Given the description of an element on the screen output the (x, y) to click on. 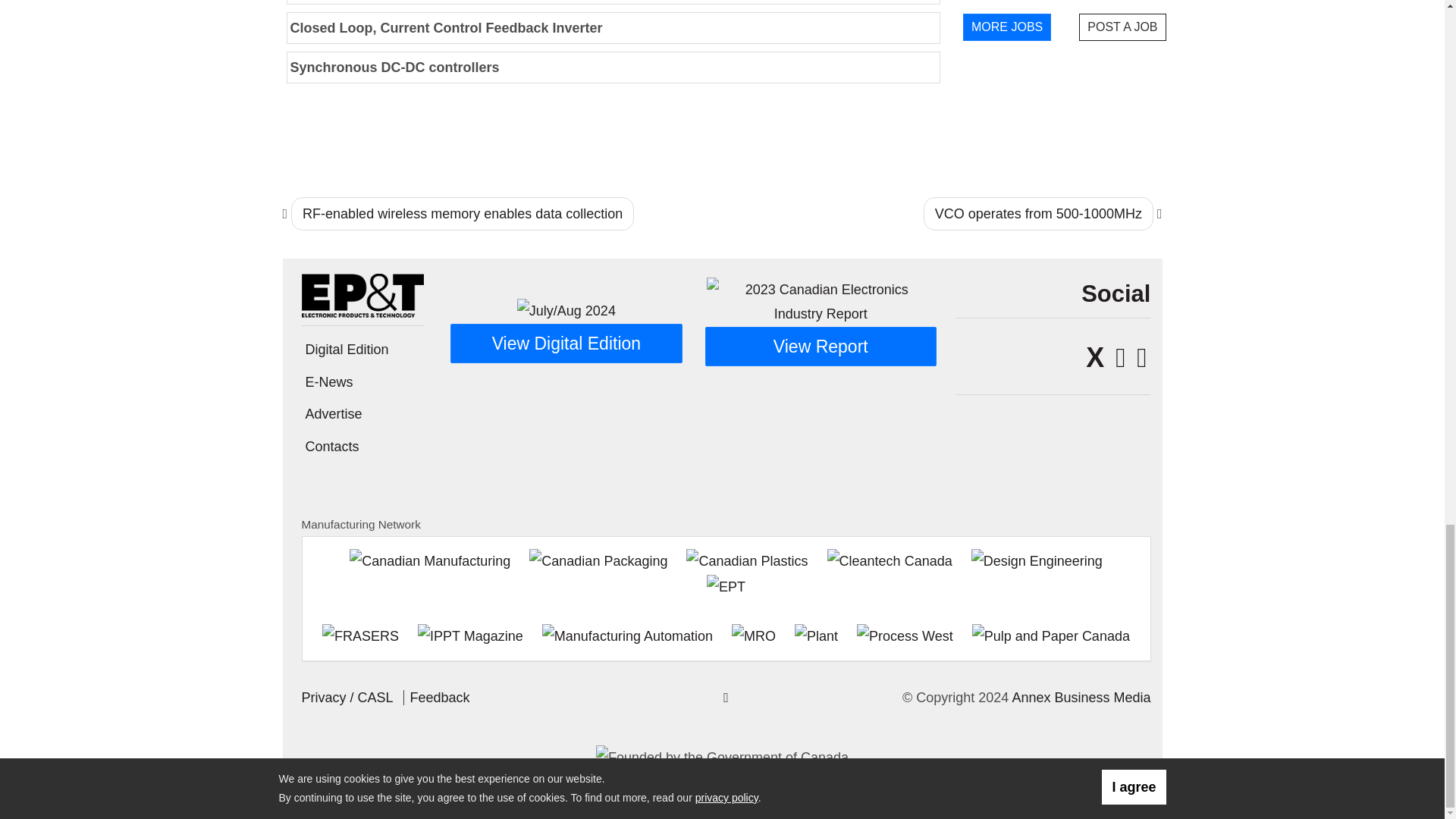
scroll to top (726, 697)
Annex Business Media (1080, 697)
